Given the description of an element on the screen output the (x, y) to click on. 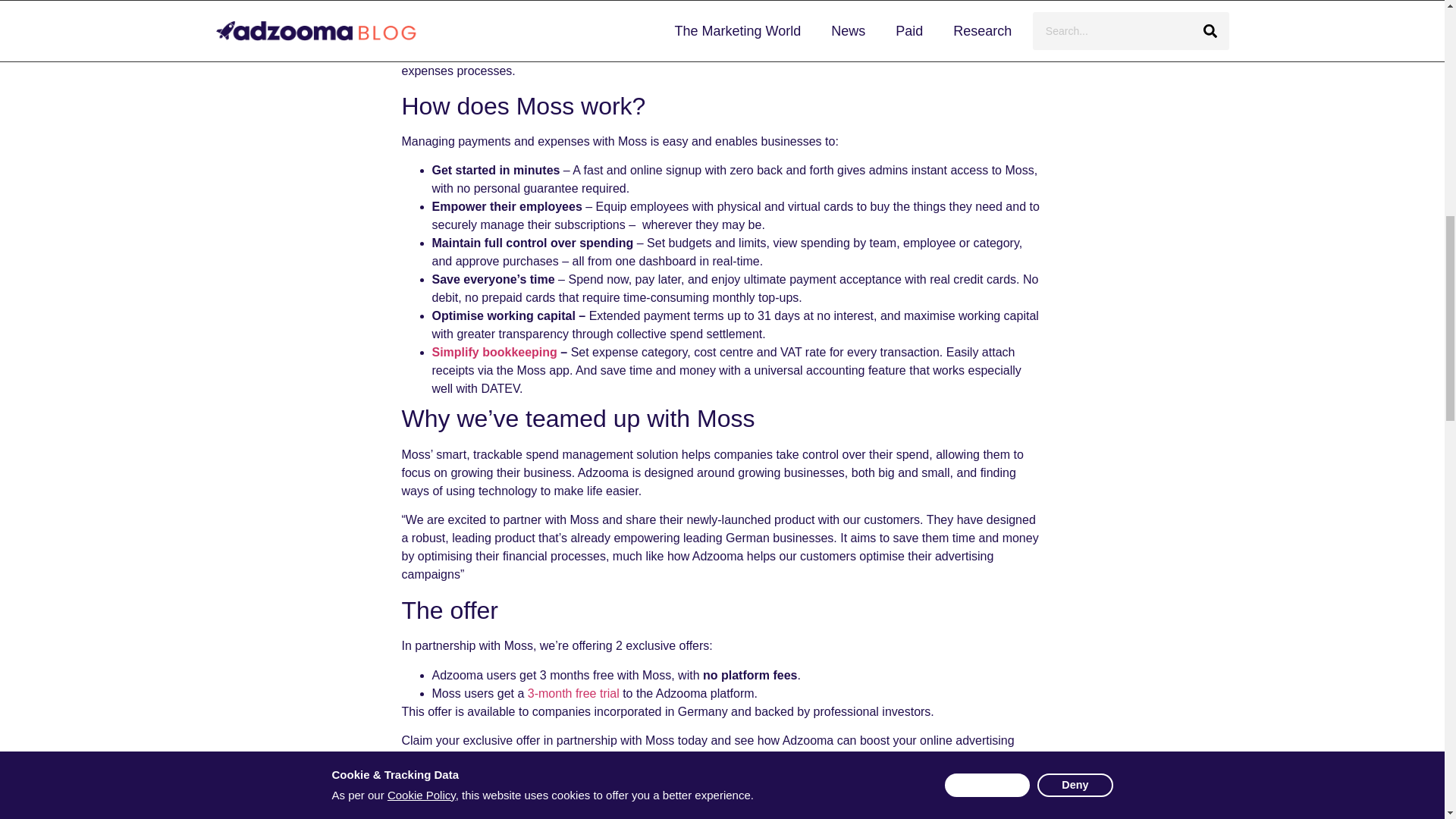
Simplify bookkeeping (494, 351)
3-month free trial (573, 693)
